Given the description of an element on the screen output the (x, y) to click on. 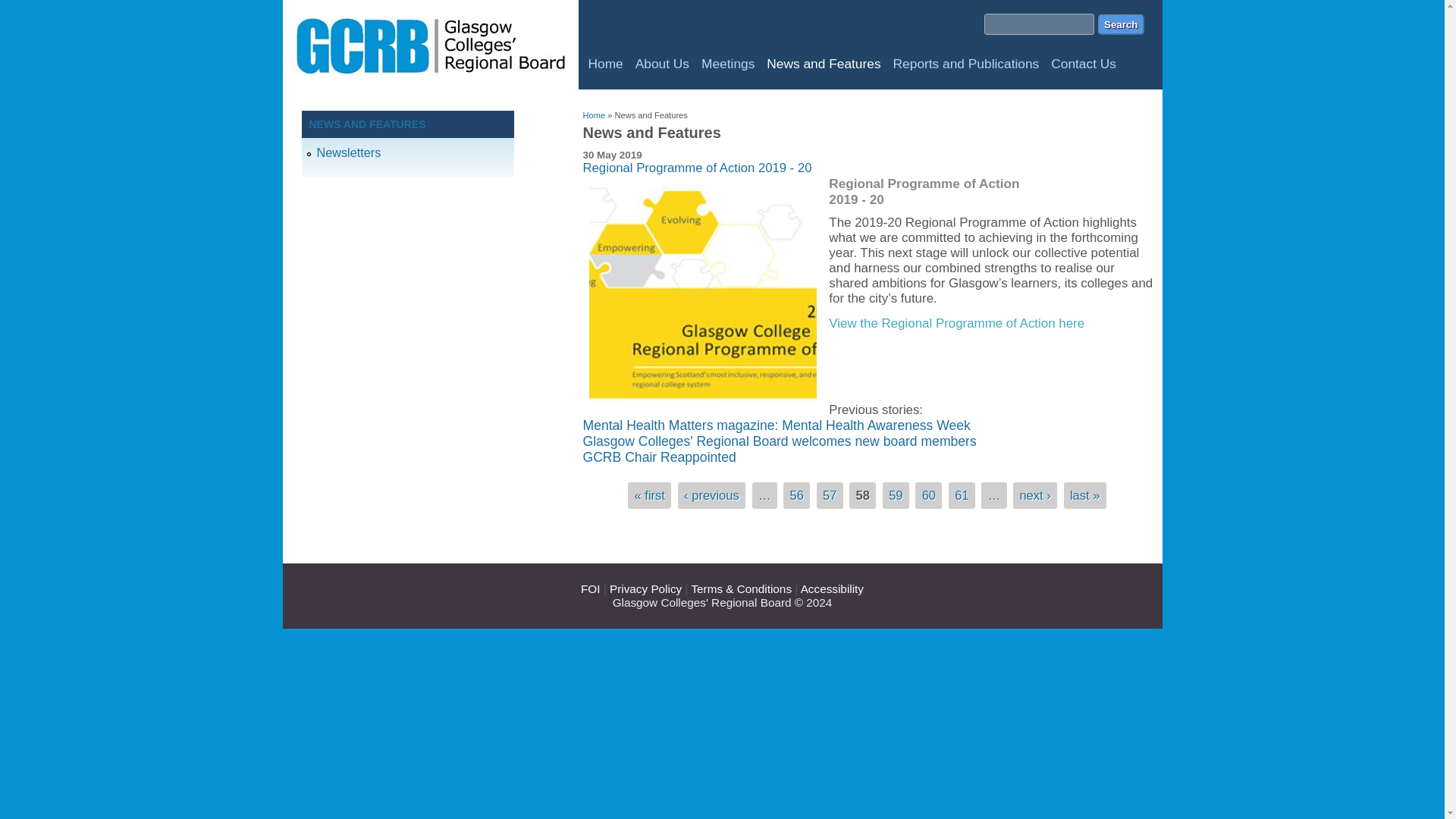
Home (593, 114)
Strategic Plan (956, 323)
Enter the terms you wish to search for. (1039, 24)
Go to page 57 (828, 495)
Reports and Publications (965, 66)
Meetings (727, 66)
Go to first page (648, 495)
About Us (661, 66)
Home (433, 83)
News and Features (823, 66)
Go to previous page (711, 495)
Glasgow Colleges' Regional Board welcomes new board members (778, 441)
GCRB Chair Reappointed (658, 457)
Contact Us (1083, 66)
Go to page 56 (796, 495)
